Given the description of an element on the screen output the (x, y) to click on. 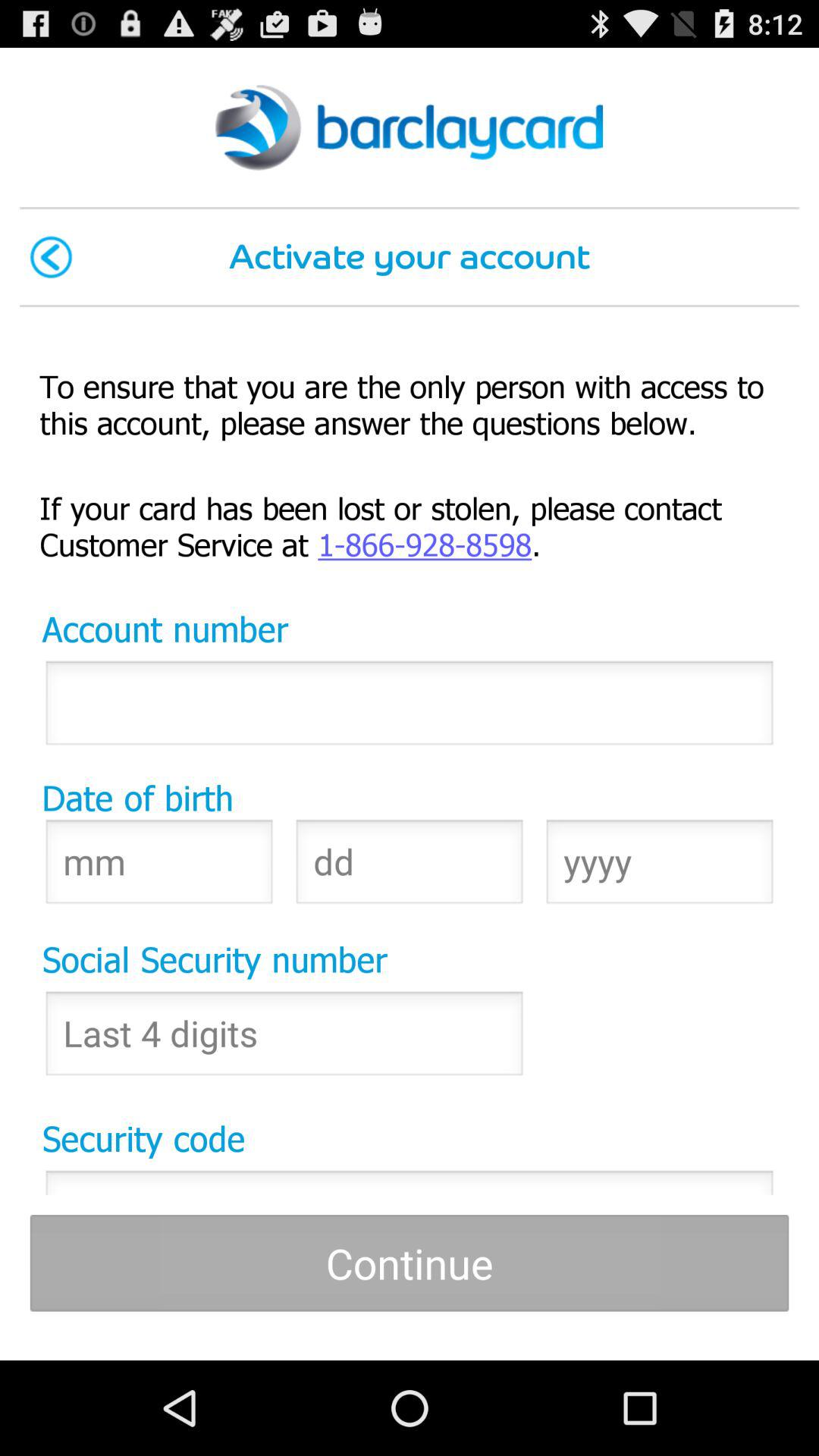
turn off item above the account number (409, 525)
